Given the description of an element on the screen output the (x, y) to click on. 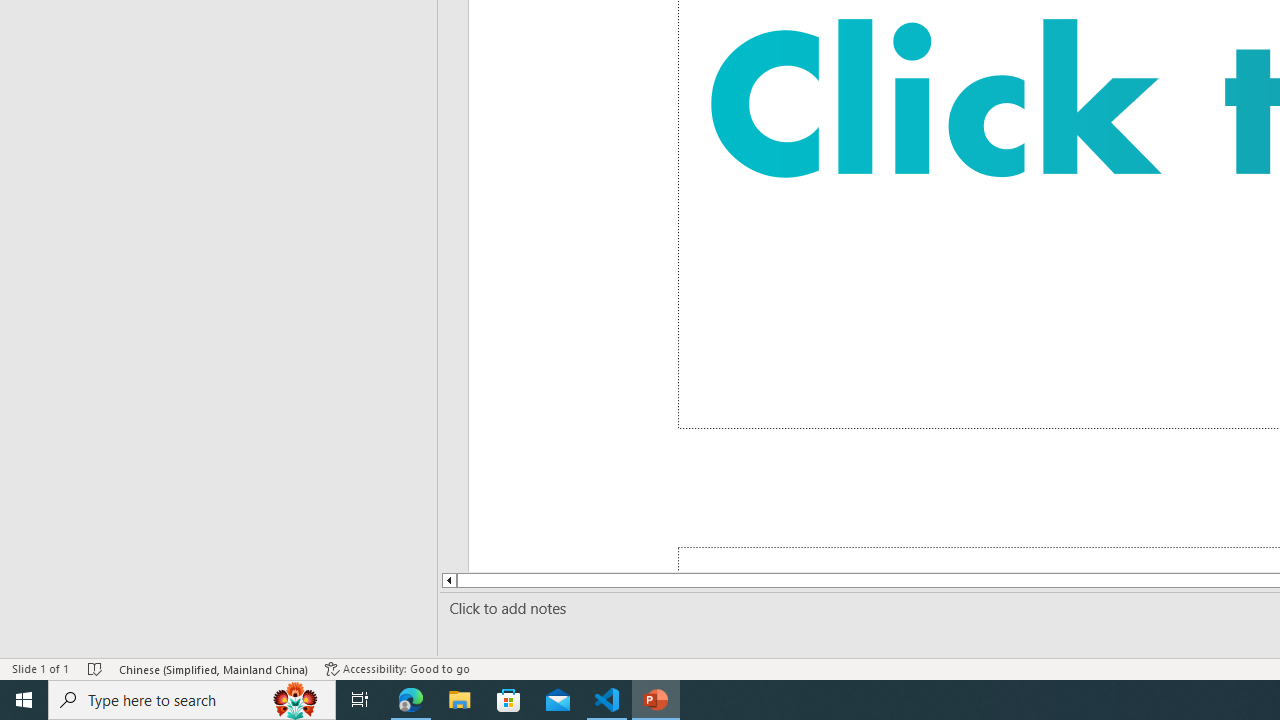
Spell Check No Errors (95, 668)
Accessibility Checker Accessibility: Good to go (397, 668)
